Given the description of an element on the screen output the (x, y) to click on. 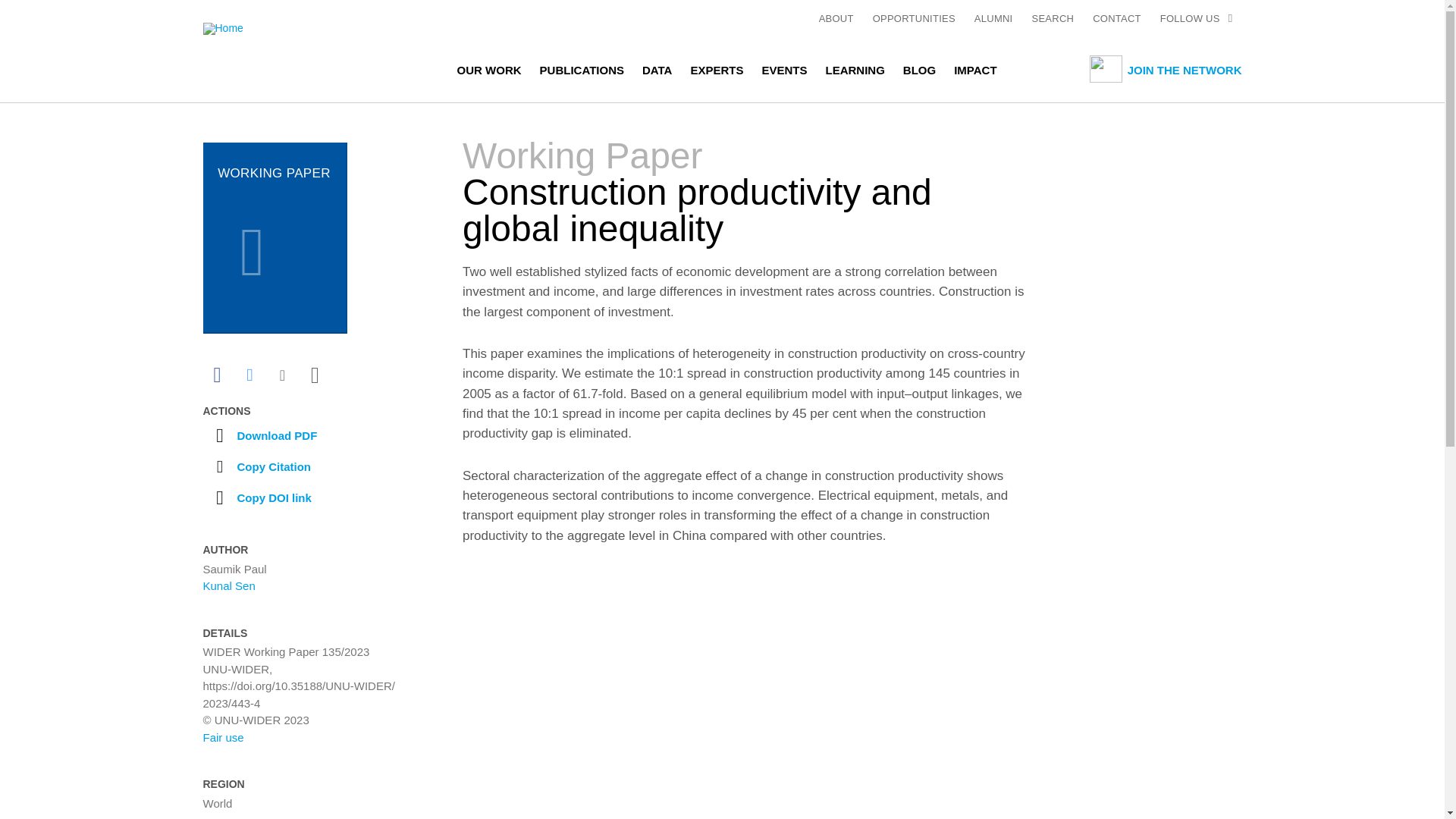
DATA (656, 69)
Print (314, 374)
EVENTS (783, 69)
PUBLICATIONS (581, 69)
SEARCH (1052, 18)
ALUMNI (993, 18)
Twitter (248, 374)
ABOUT (835, 18)
OPPORTUNITIES (913, 18)
IMPACT (974, 69)
